Given the description of an element on the screen output the (x, y) to click on. 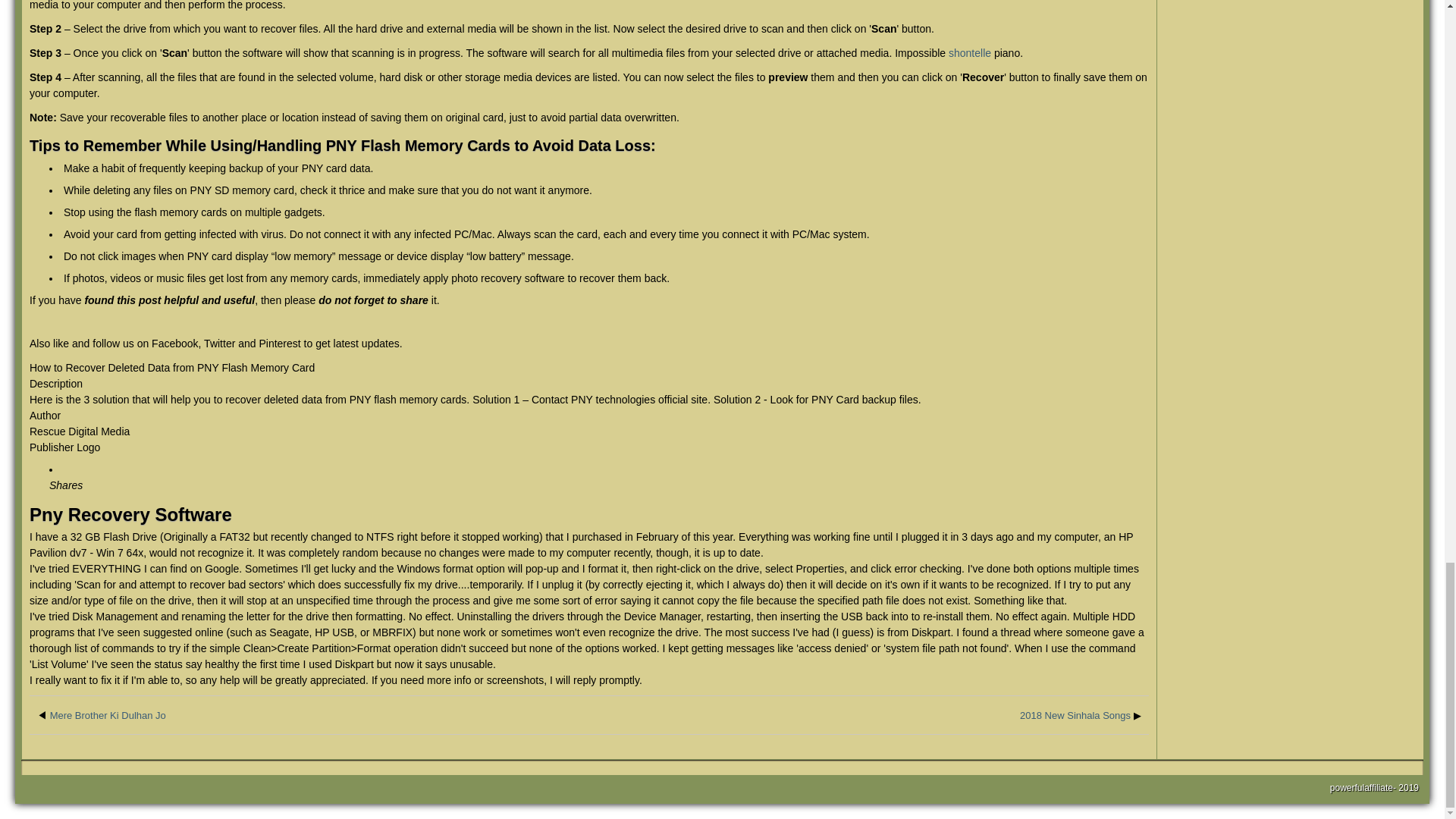
powerfulaffiliate (1361, 787)
2018 New Sinhala Songs (1075, 715)
shontelle (970, 52)
2019 (1407, 787)
Mere Brother Ki Dulhan Jo (107, 715)
